Given the description of an element on the screen output the (x, y) to click on. 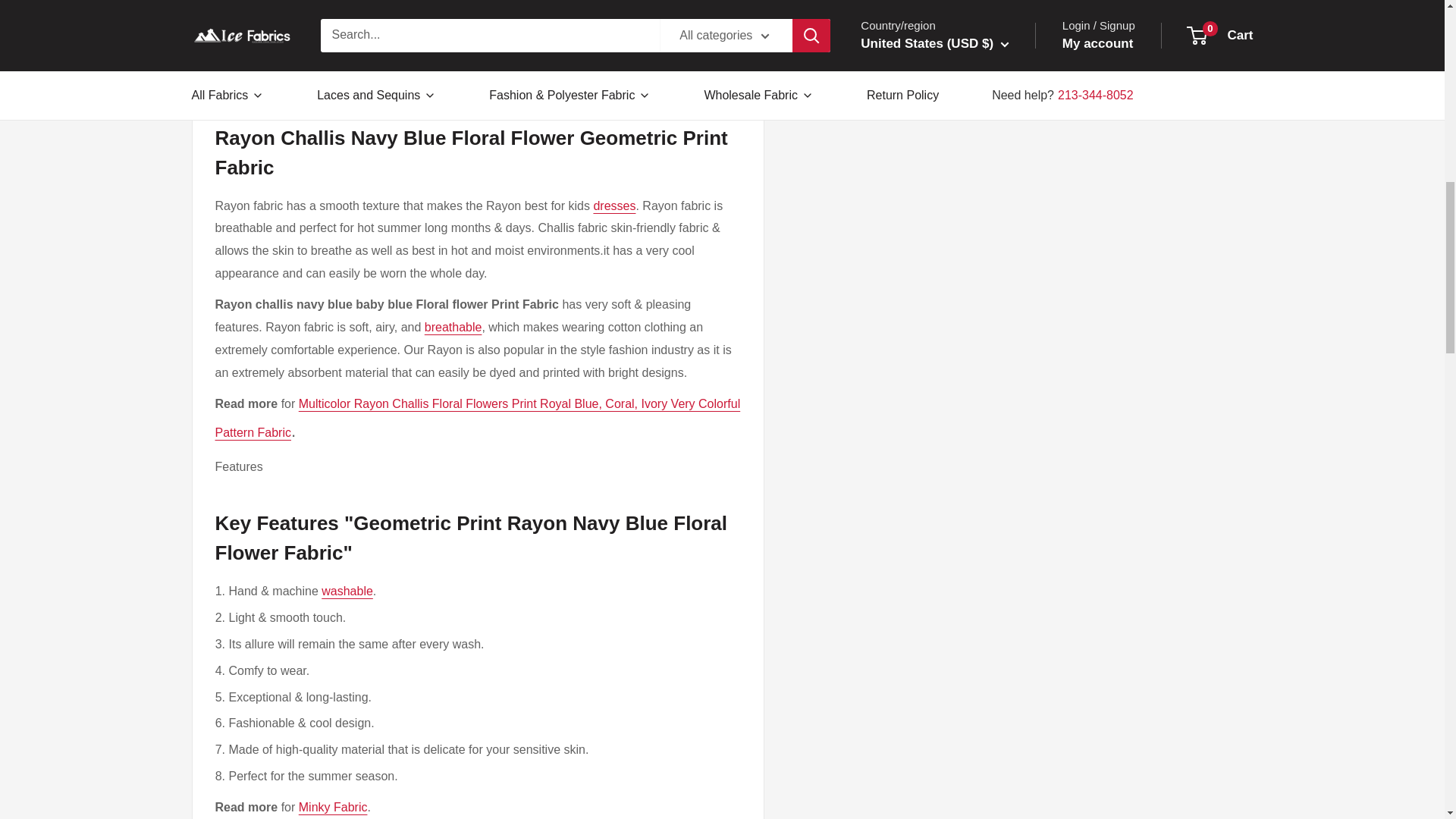
Minky Fabric - IceFabrics (333, 807)
20x20 Inch Washable Polyester Dinner 12 Napkins - IceFabrics (346, 590)
Rayon Challis - IceFabrics (628, 58)
